Given the description of an element on the screen output the (x, y) to click on. 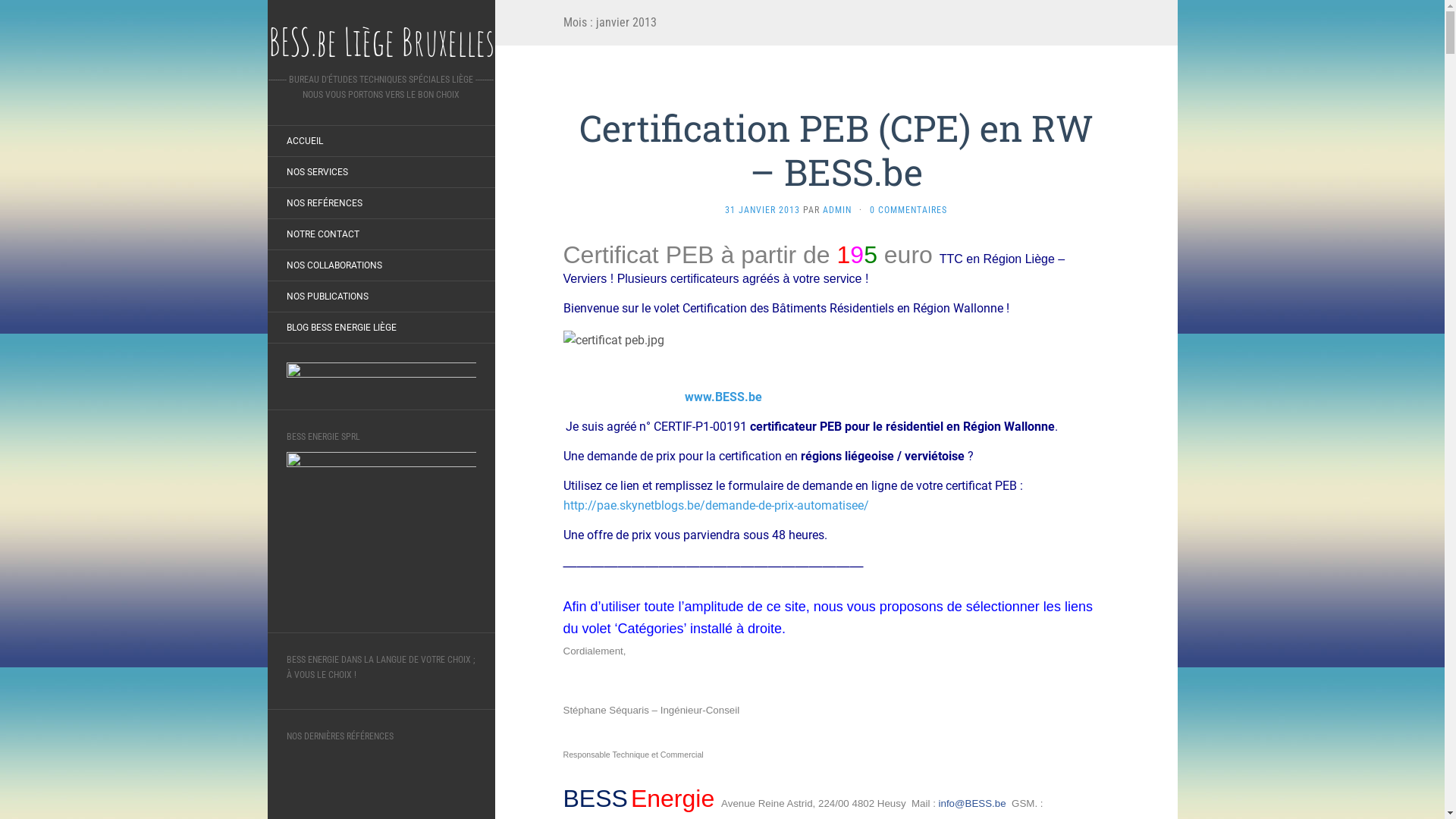
www.BESS.be Element type: text (723, 396)
NOTRE CONTACT Element type: text (321, 234)
ACCUEIL Element type: text (303, 140)
info@BESS.be Element type: text (972, 803)
NOS PUBLICATIONS Element type: text (326, 296)
0 COMMENTAIRES Element type: text (908, 209)
Rechercher Element type: text (32, 10)
NOS COLLABORATIONS Element type: text (333, 265)
http://pae.skynetblogs.be/demande-de-prix-automatisee/ Element type: text (715, 505)
ADMIN Element type: text (836, 209)
31 JANVIER 2013 Element type: text (762, 209)
NOS SERVICES Element type: text (316, 172)
